Given the description of an element on the screen output the (x, y) to click on. 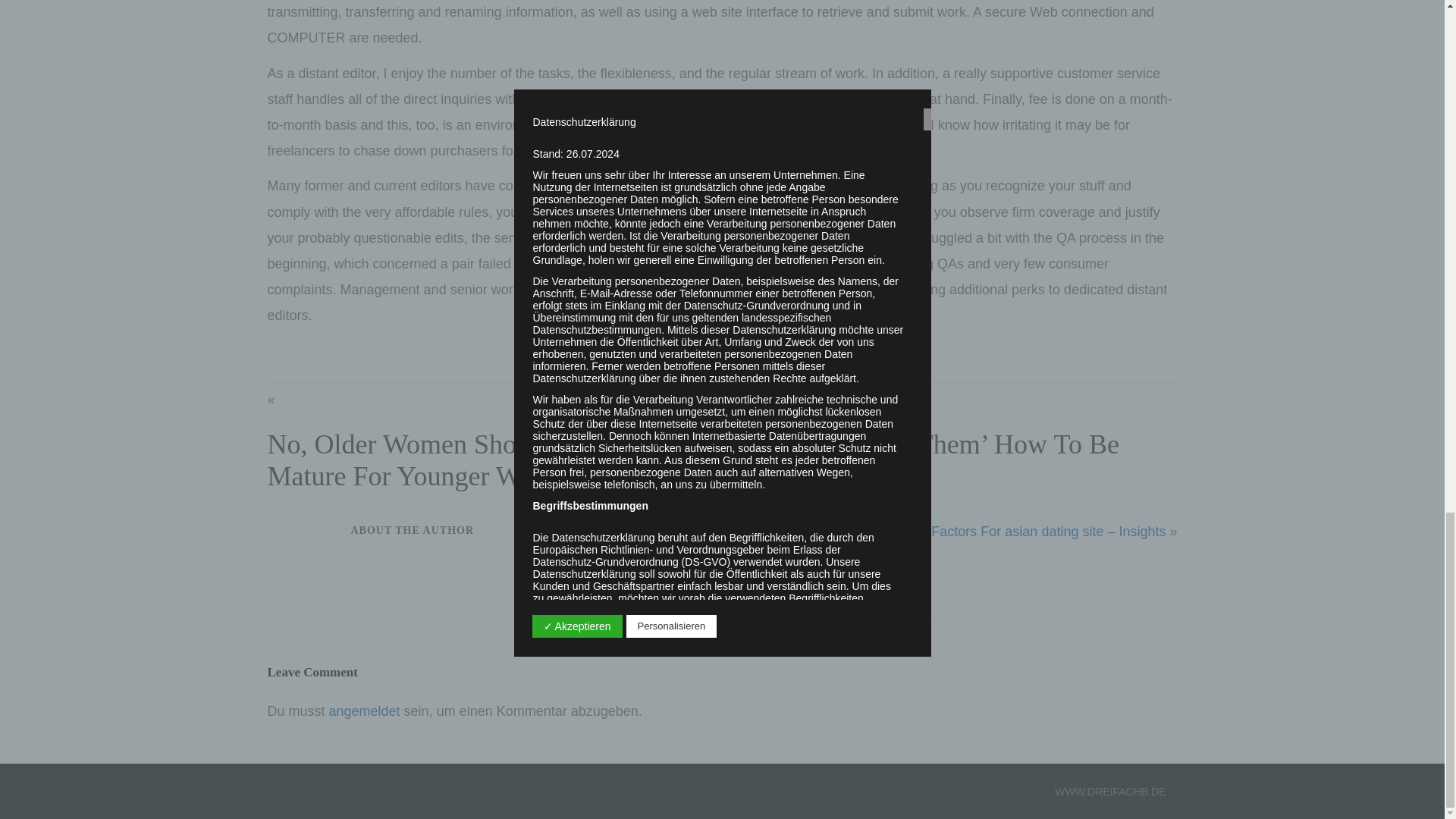
ukessays (668, 237)
angemeldet (364, 711)
